Given the description of an element on the screen output the (x, y) to click on. 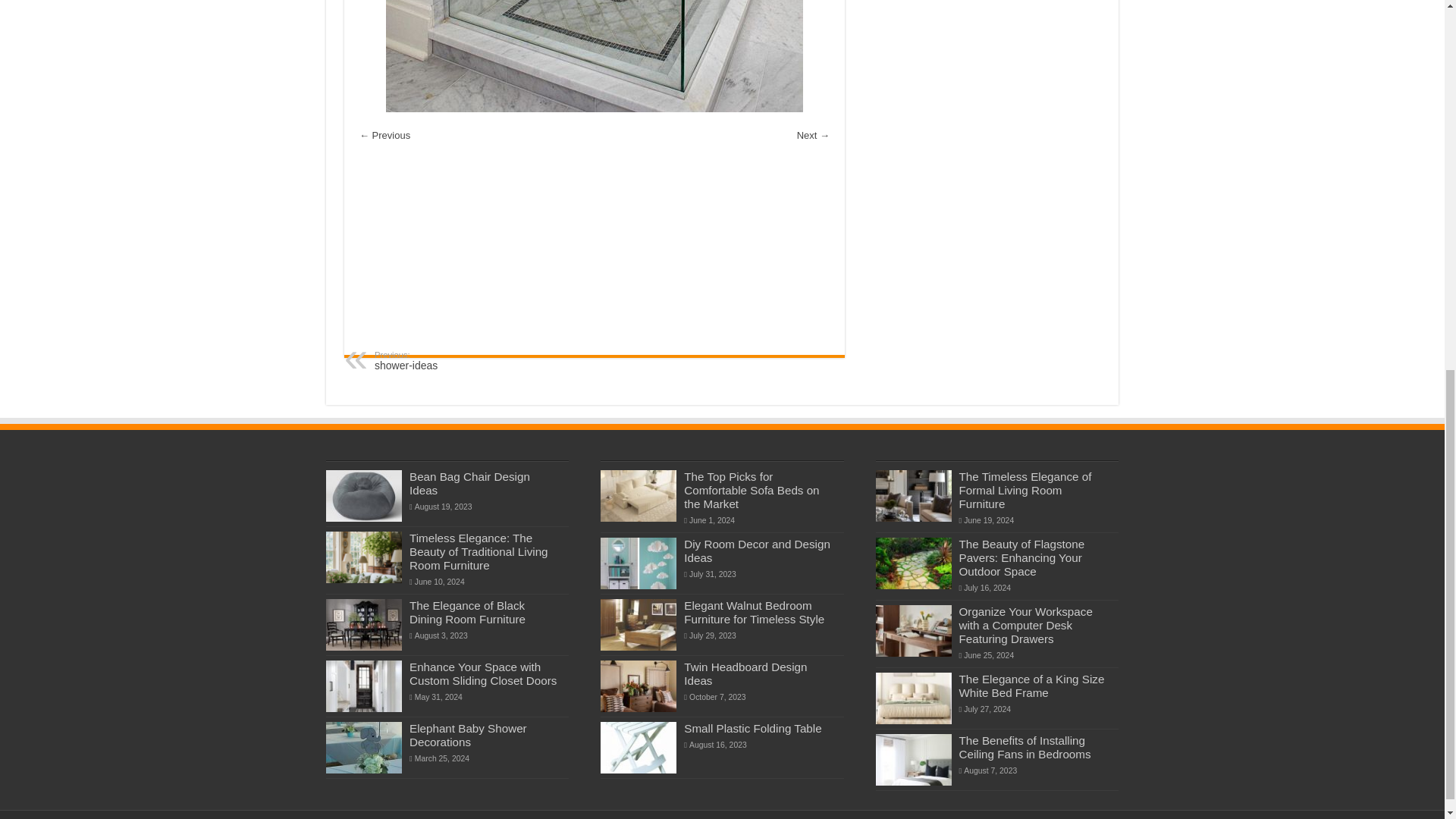
Advertisement (594, 250)
